Given the description of an element on the screen output the (x, y) to click on. 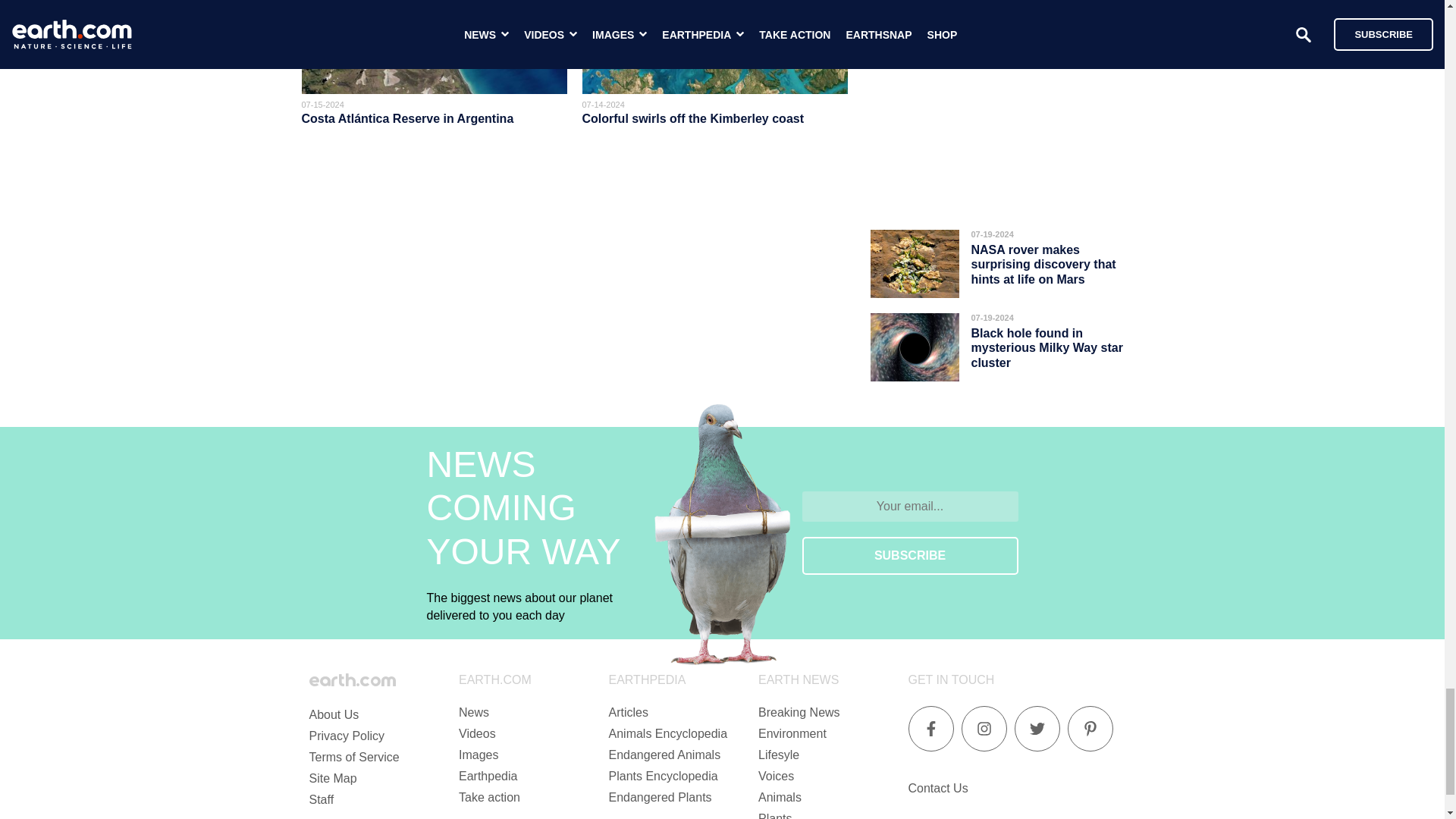
Colorful swirls off the Kimberley coast (693, 118)
